Given the description of an element on the screen output the (x, y) to click on. 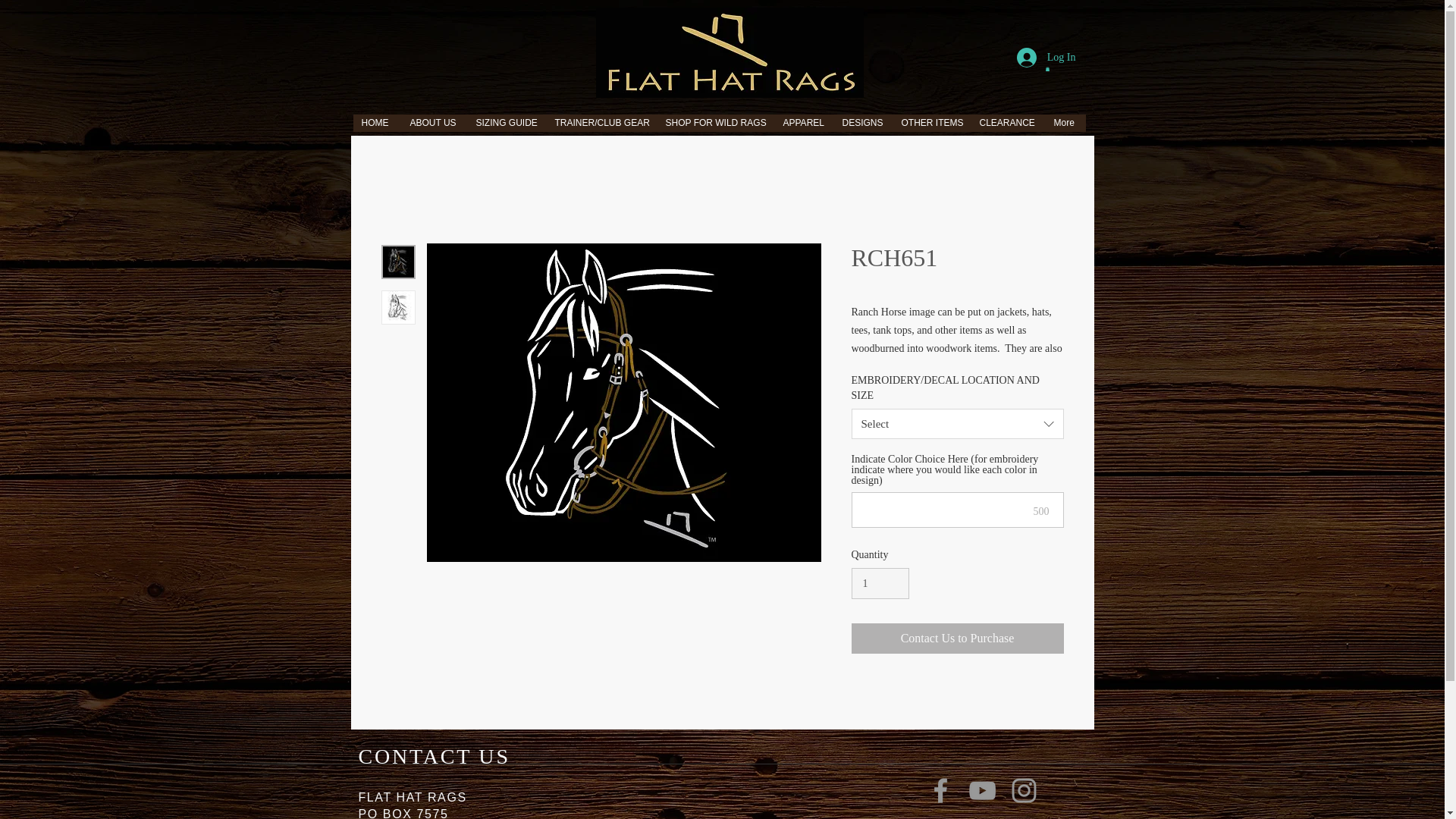
HOME (377, 127)
Log In (1046, 57)
1 (879, 583)
SIZING GUIDE (506, 127)
SHOP FOR WILD RAGS (715, 127)
